Given the description of an element on the screen output the (x, y) to click on. 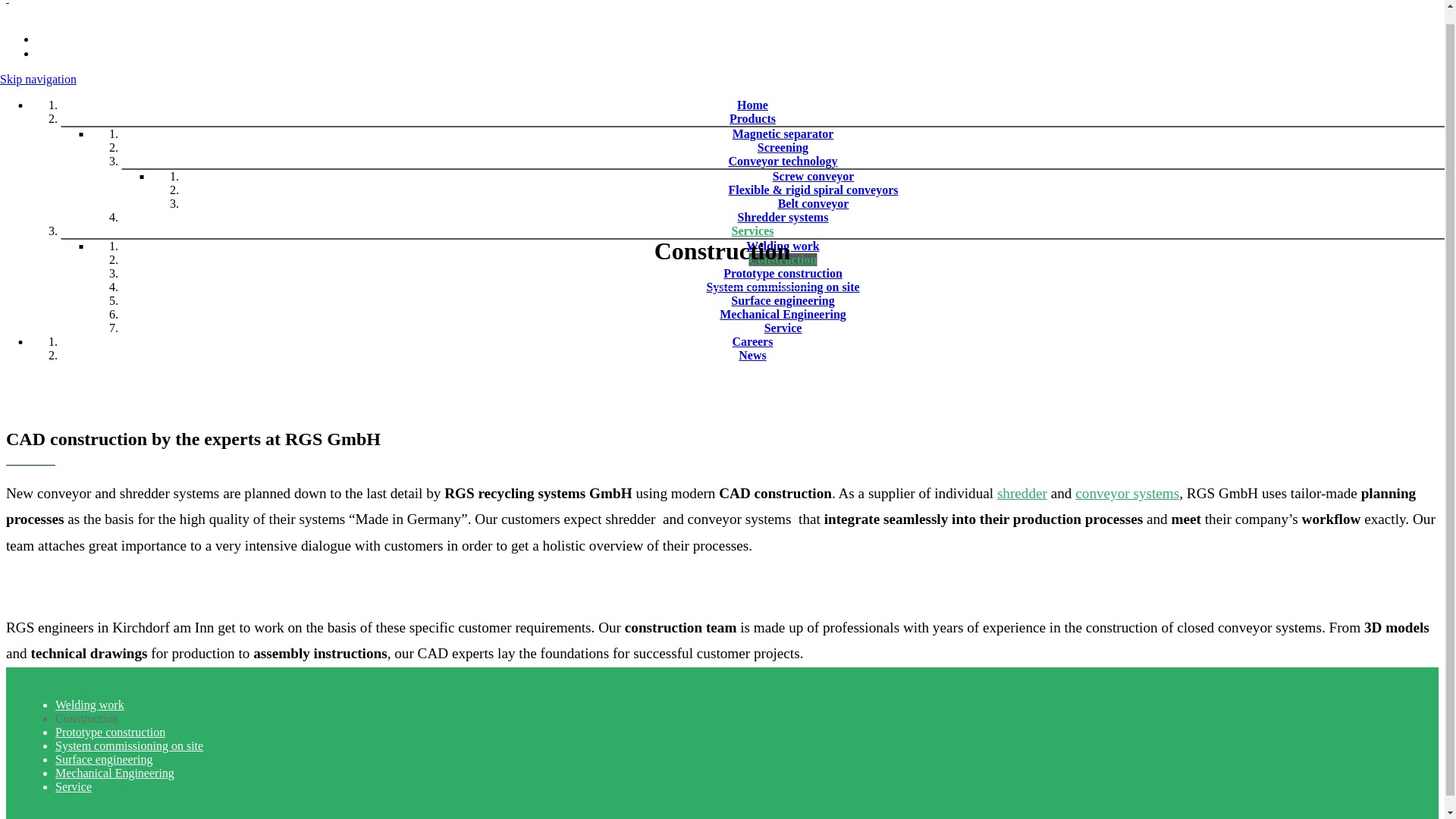
shredder (1021, 493)
Surface engineering (103, 758)
System commissioning on site (129, 745)
Prototype construction (110, 731)
News (751, 354)
System commissioning on site (782, 286)
Shredder systems (783, 216)
Careers (752, 341)
Products (752, 118)
Skip navigation (38, 78)
conveyor systems (1127, 493)
Magnetic separator (783, 133)
Welding work (781, 245)
